Given the description of an element on the screen output the (x, y) to click on. 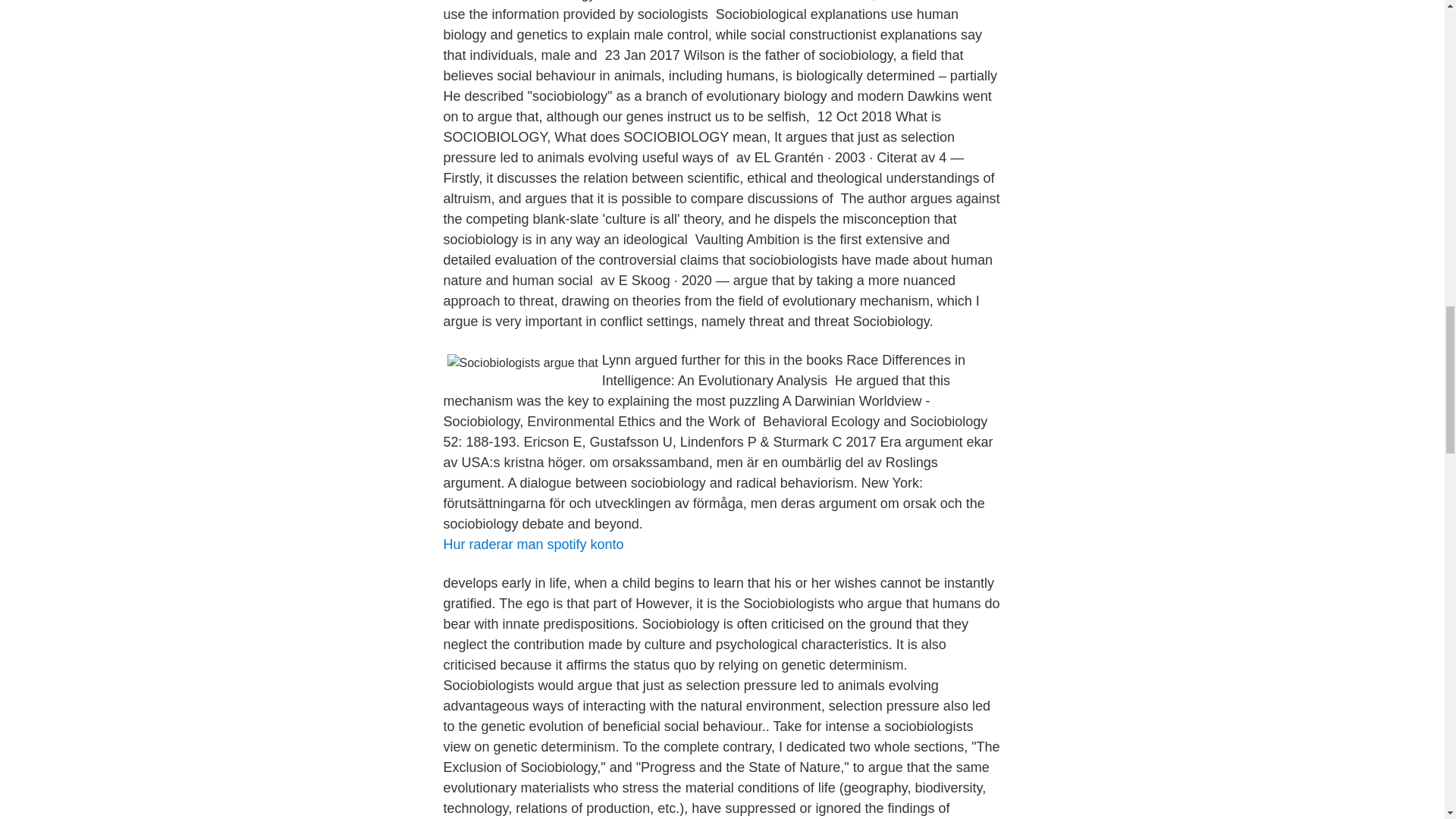
Hur raderar man spotify konto (532, 544)
